Given the description of an element on the screen output the (x, y) to click on. 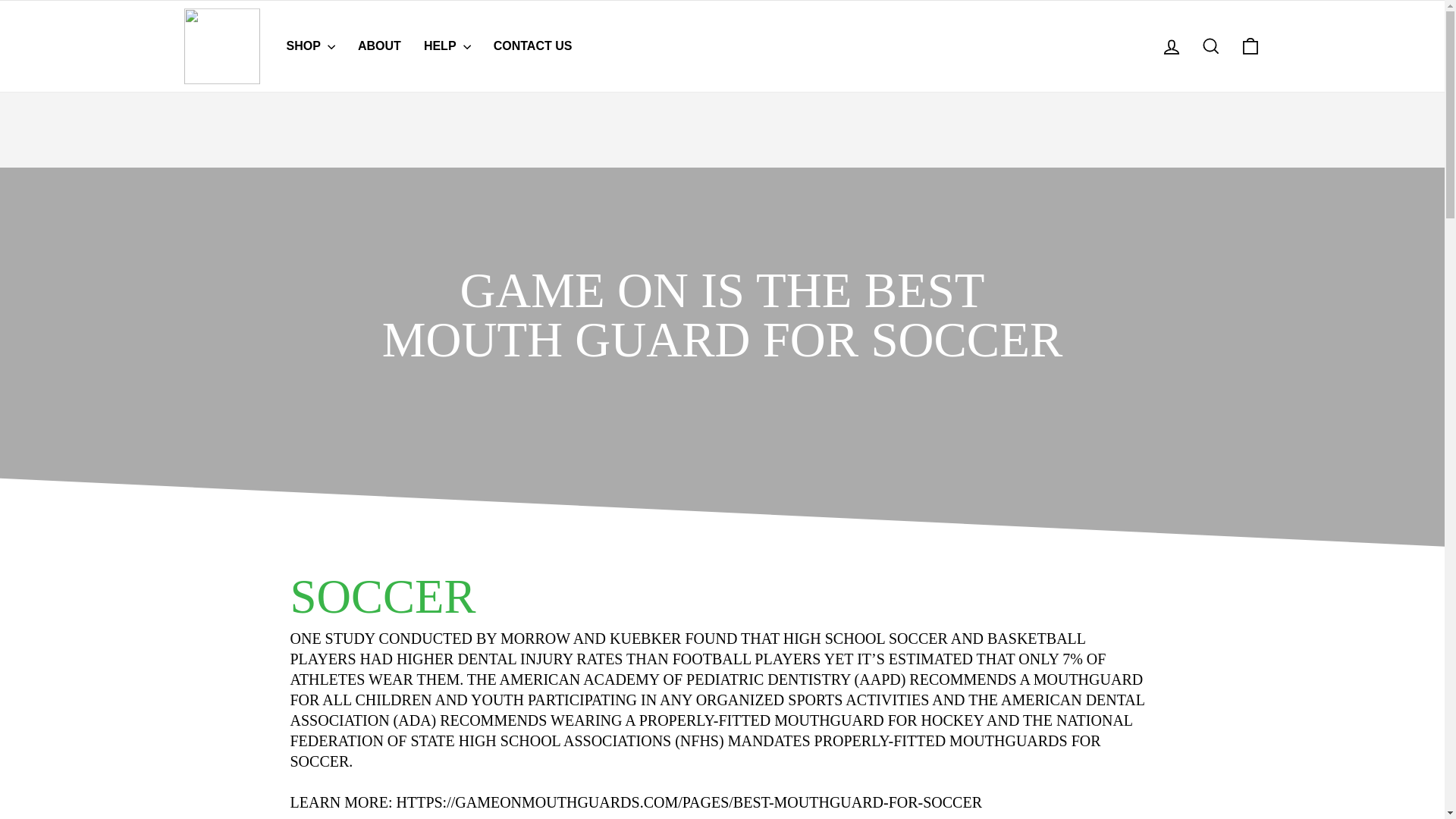
STUDY (1249, 45)
ACCOUNT (351, 638)
ICON-BAG-MINIMAL (1210, 45)
CONTACT US (1170, 46)
ICON-SEARCH (1171, 45)
ABOUT (1249, 46)
